Given the description of an element on the screen output the (x, y) to click on. 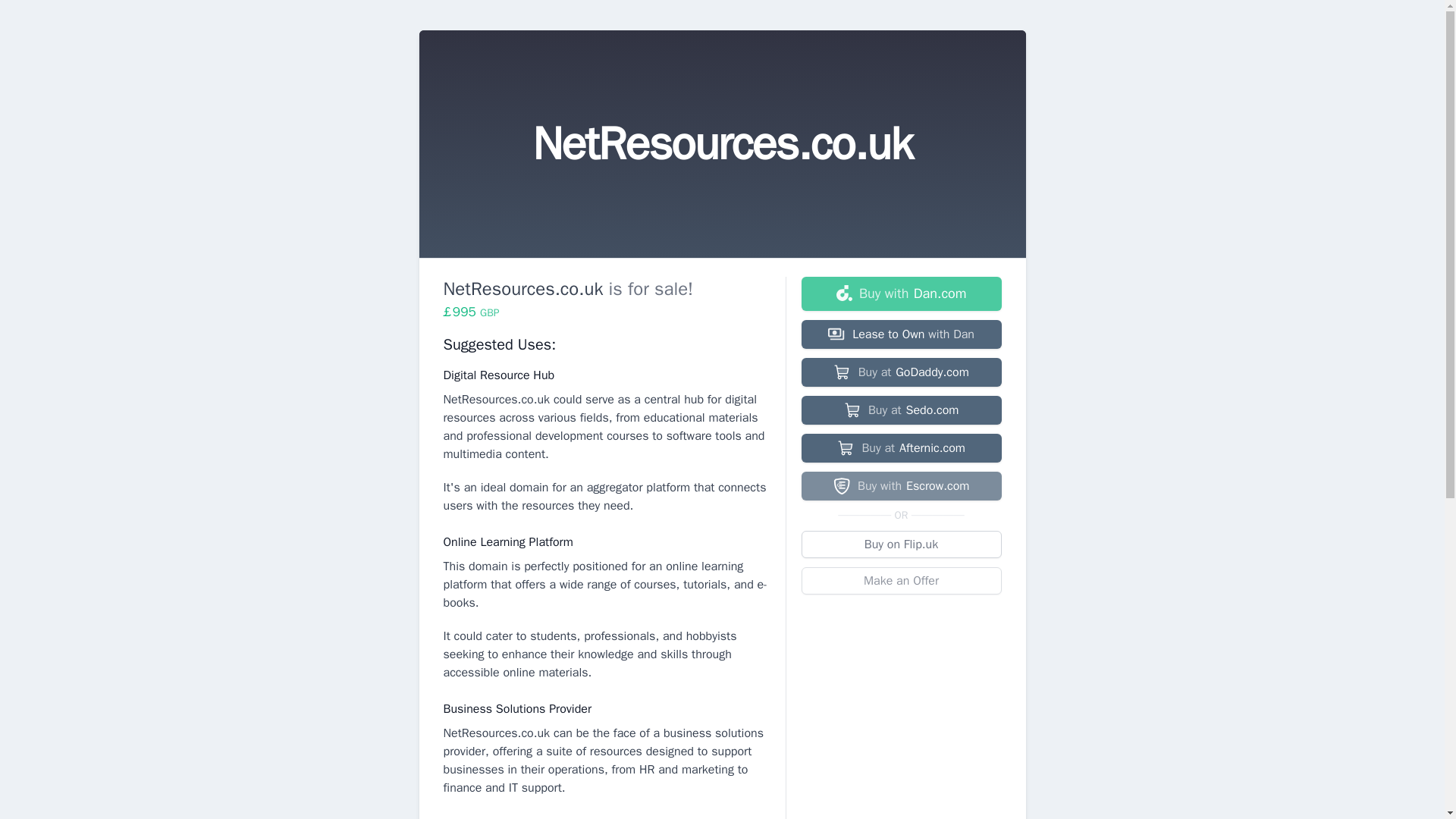
Make an Offer (900, 580)
Buy at Afternic.com (900, 448)
Lease to Own with Dan (900, 334)
Buy at GoDaddy.com (900, 371)
Buy with Dan.com (900, 293)
Buy at Sedo.com (900, 410)
Buy on Flip.uk (900, 543)
Buy with Escrow.com (900, 485)
